Given the description of an element on the screen output the (x, y) to click on. 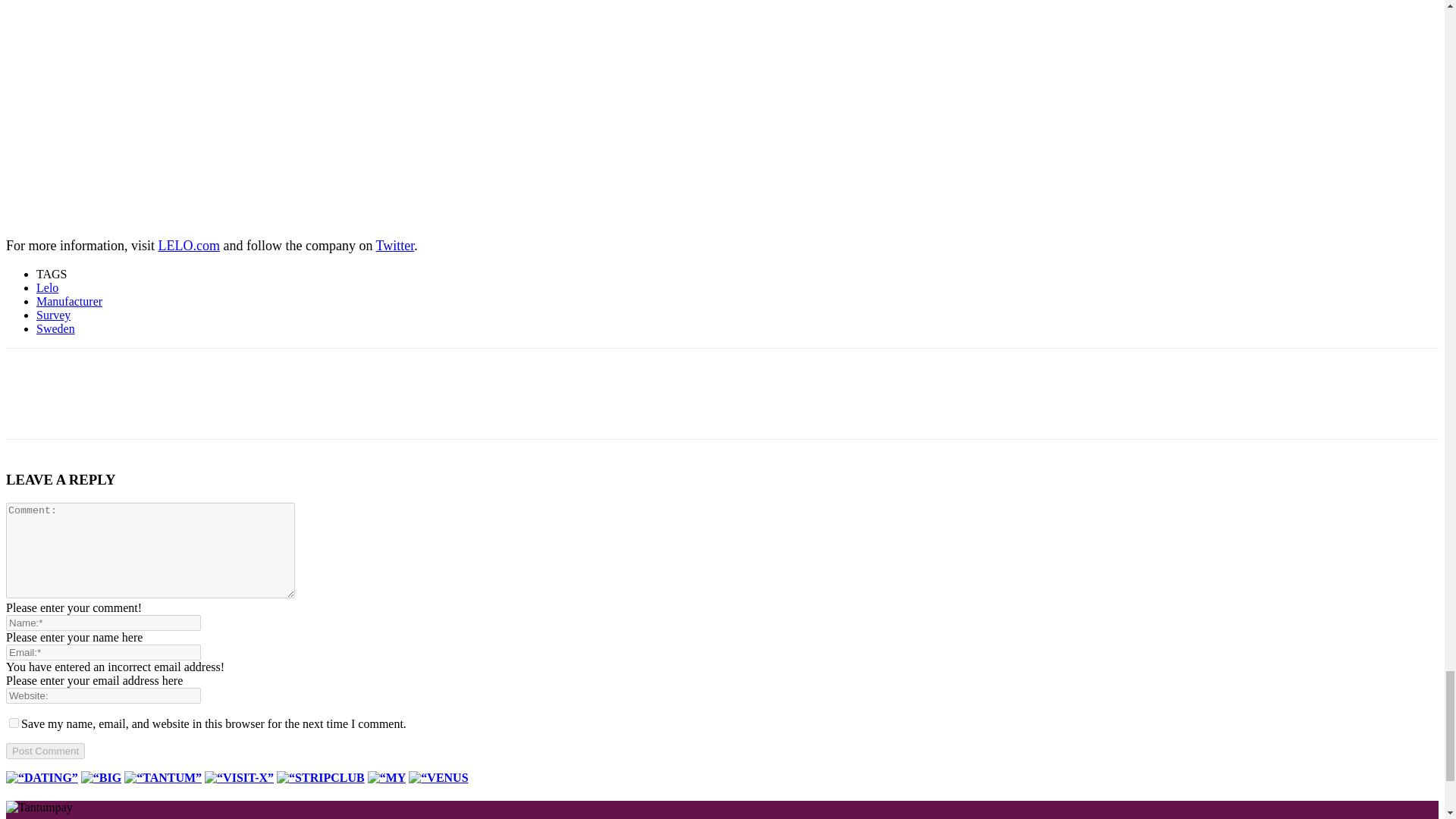
Post Comment (44, 750)
yes (13, 723)
